Given the description of an element on the screen output the (x, y) to click on. 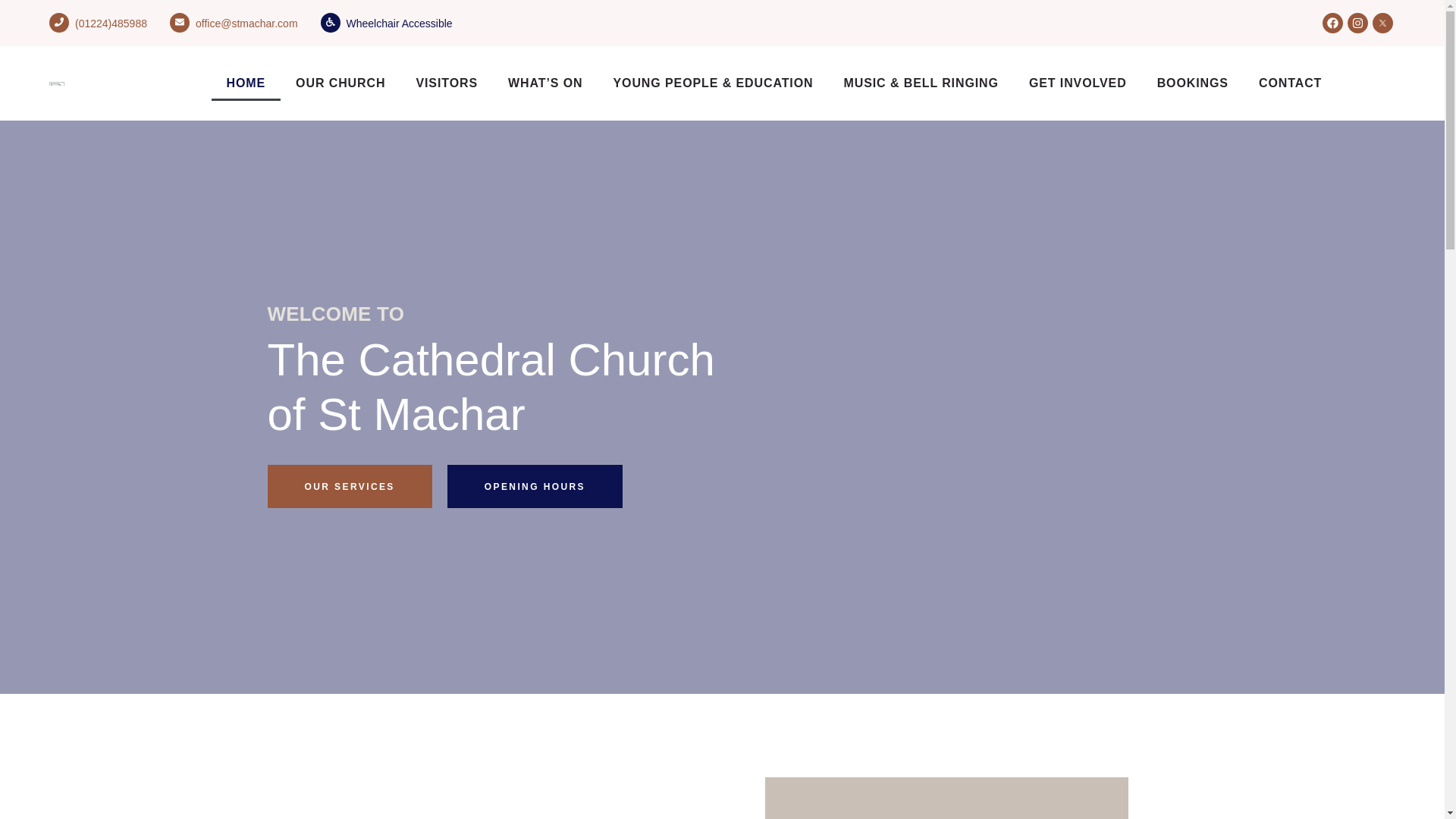
OUR CHURCH (340, 83)
HOME (246, 83)
VISITORS (446, 83)
